Given the description of an element on the screen output the (x, y) to click on. 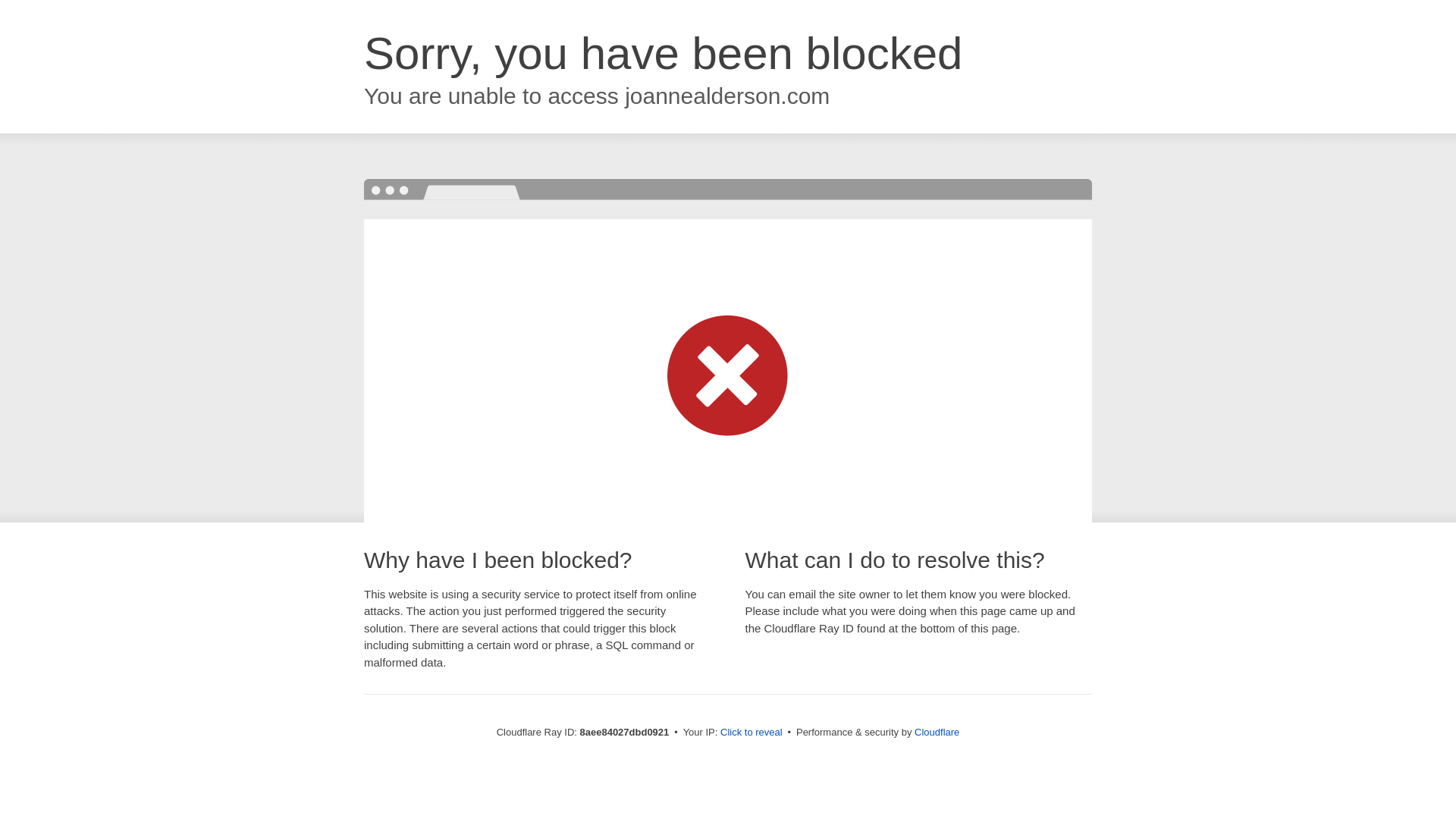
Click to reveal (751, 732)
Cloudflare (936, 731)
